Given the description of an element on the screen output the (x, y) to click on. 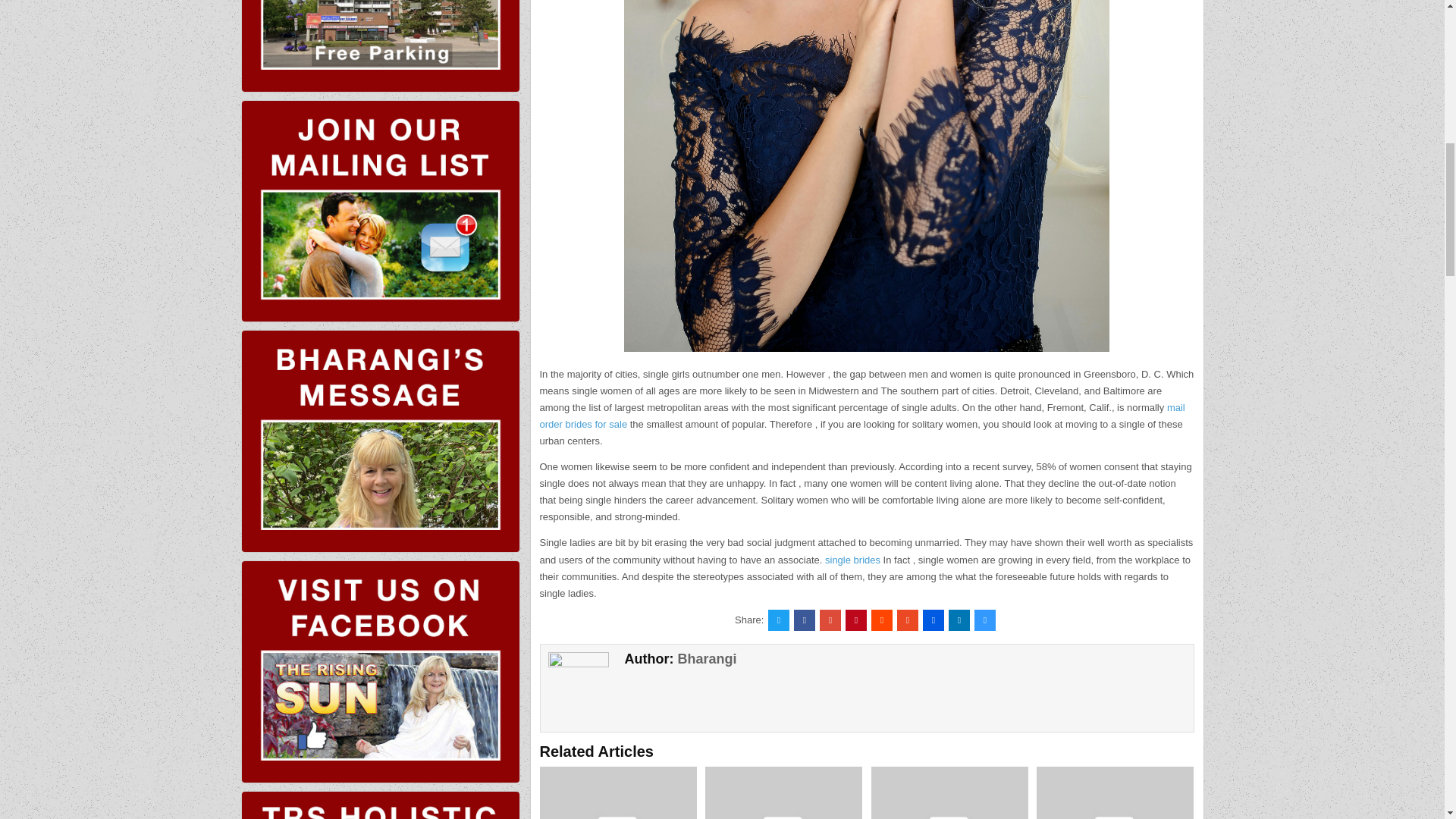
Permanent Link to Finding a Good Option Relationship (782, 792)
Bharangi (706, 658)
Share this on Delicious (984, 619)
Permanent Link to The very best Mailorder Woman Sites (948, 792)
Share this on Stumbleupon (907, 619)
Share this on Facebook (804, 619)
Tweet This! (778, 619)
Share this on Pinterest (855, 619)
Share this on Reddit (881, 619)
single brides (852, 559)
Permanent Link to The Missionary Sexual Position (1114, 792)
Share this on Digg (933, 619)
mail order brides for sale (862, 415)
Share this on Linkedin (959, 619)
